Given the description of an element on the screen output the (x, y) to click on. 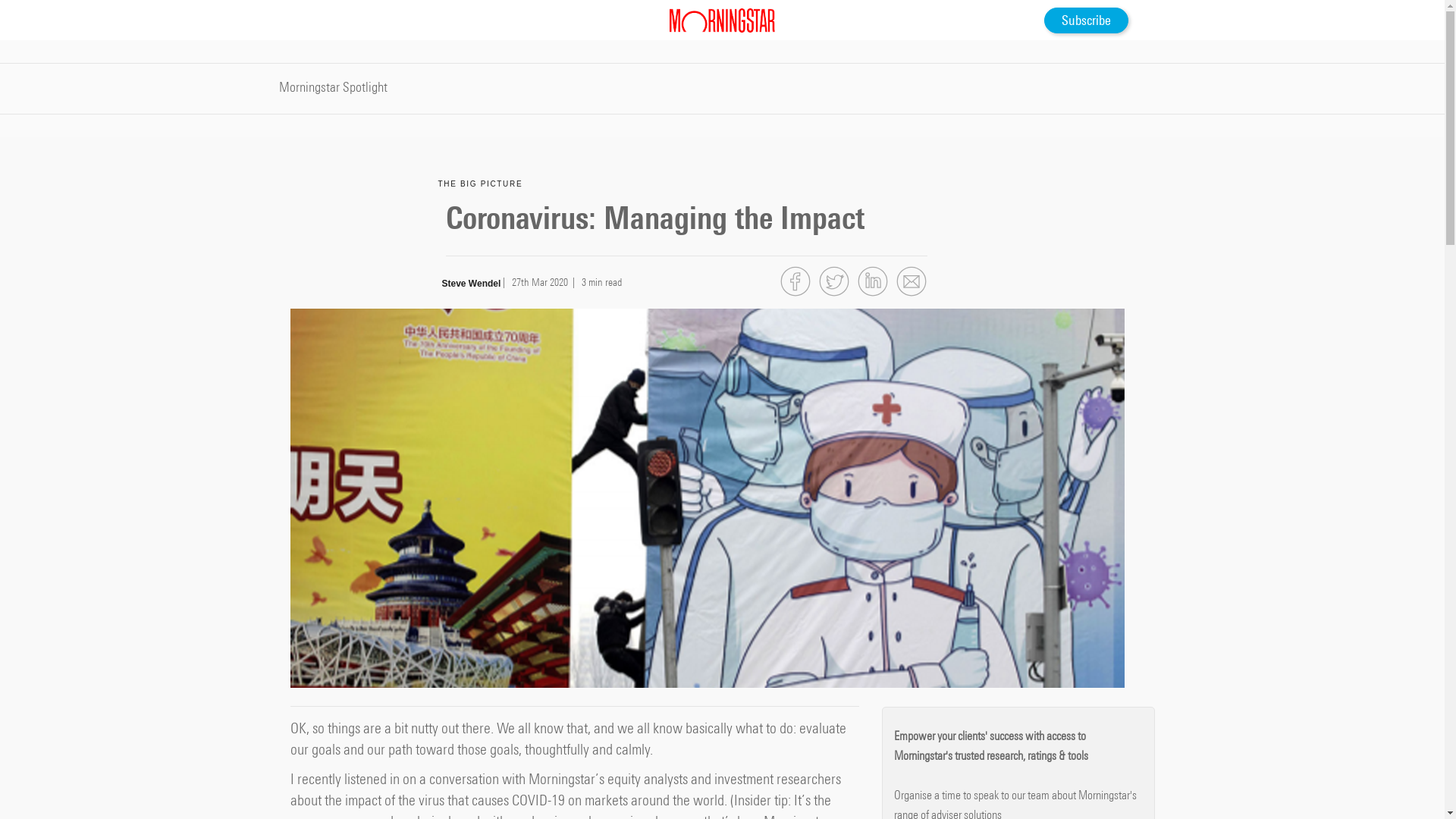
THE BIG PICTURE Element type: text (480, 183)
Subscribe Element type: text (1085, 20)
Morningstar Spotlight Element type: text (333, 88)
